Given the description of an element on the screen output the (x, y) to click on. 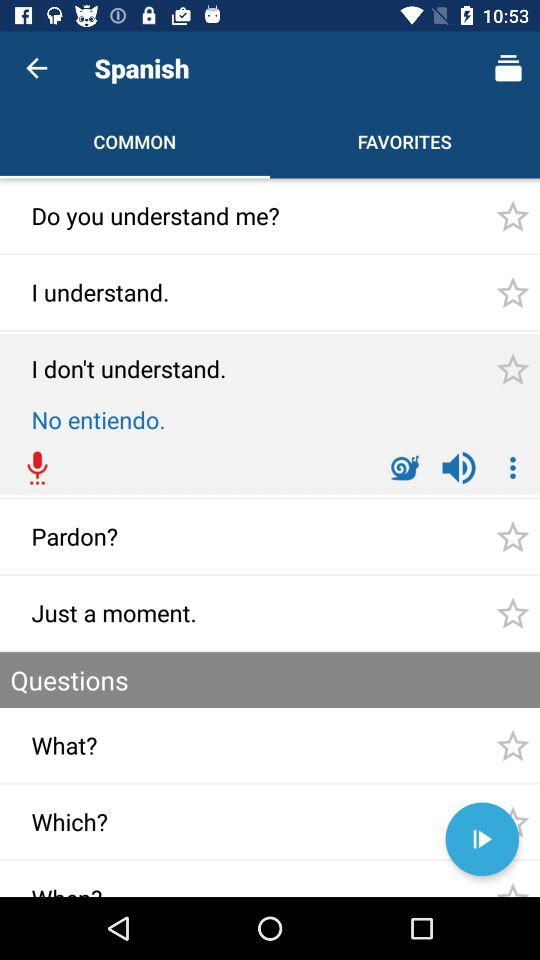
click on the third star icon (512, 369)
select the red color icon which is above the text pardon (37, 468)
click on the more options icon which is on the right side of volume icon (512, 468)
click on the snail icon (404, 468)
